Given the description of an element on the screen output the (x, y) to click on. 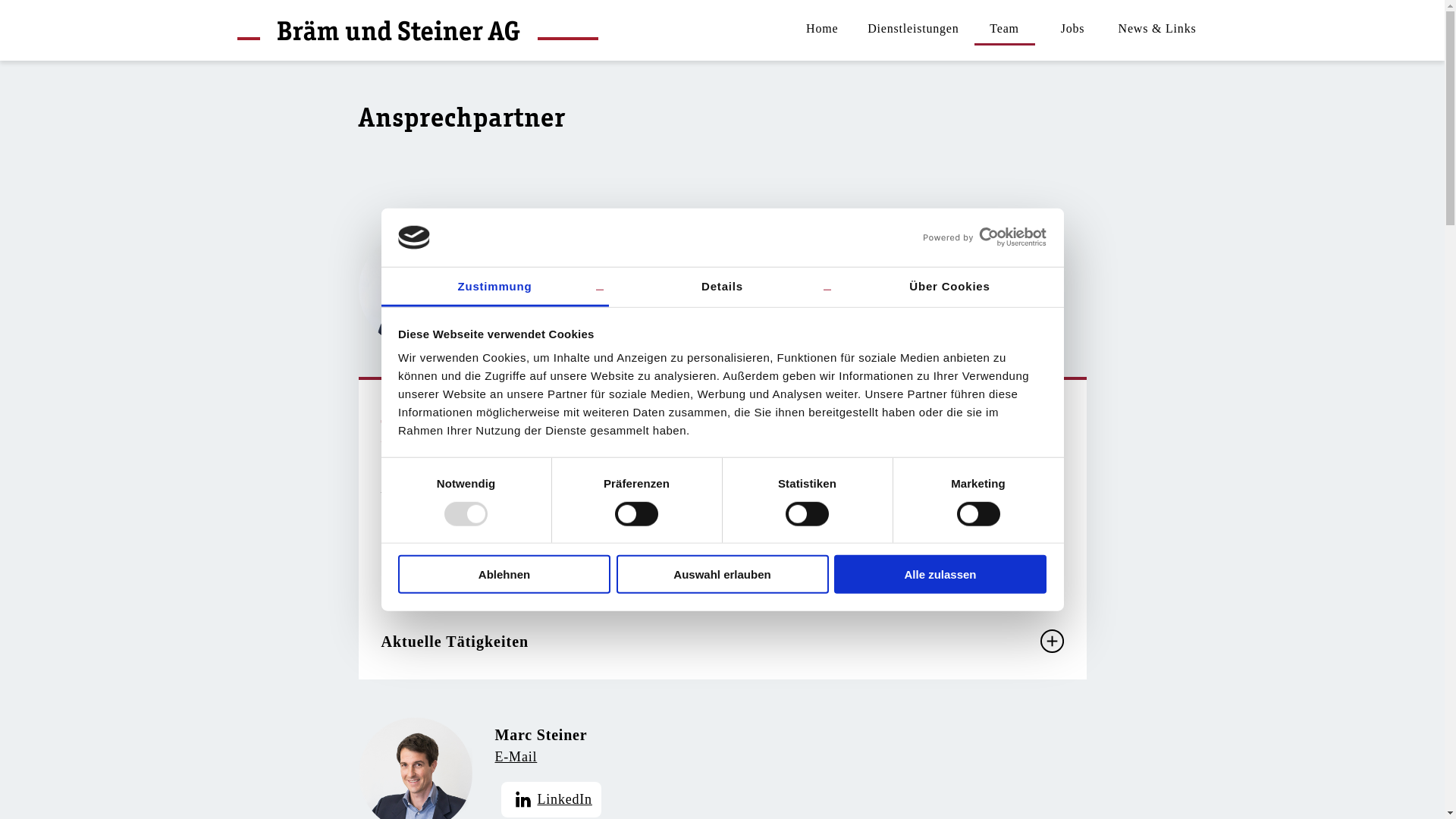
E-Mail Element type: text (560, 272)
Zustimmung Element type: text (494, 287)
Alle zulassen Element type: text (940, 574)
Dienstleistungen Element type: text (912, 30)
LinkedIn Element type: text (550, 314)
Jobs Element type: text (1072, 30)
E-Mail Element type: text (547, 756)
Home Element type: text (821, 30)
Details Element type: text (721, 287)
Ablehnen Element type: text (504, 574)
Team Element type: text (1004, 30)
LinkedIn Element type: text (550, 799)
Auswahl erlauben Element type: text (721, 574)
News & Links Element type: text (1157, 30)
